Given the description of an element on the screen output the (x, y) to click on. 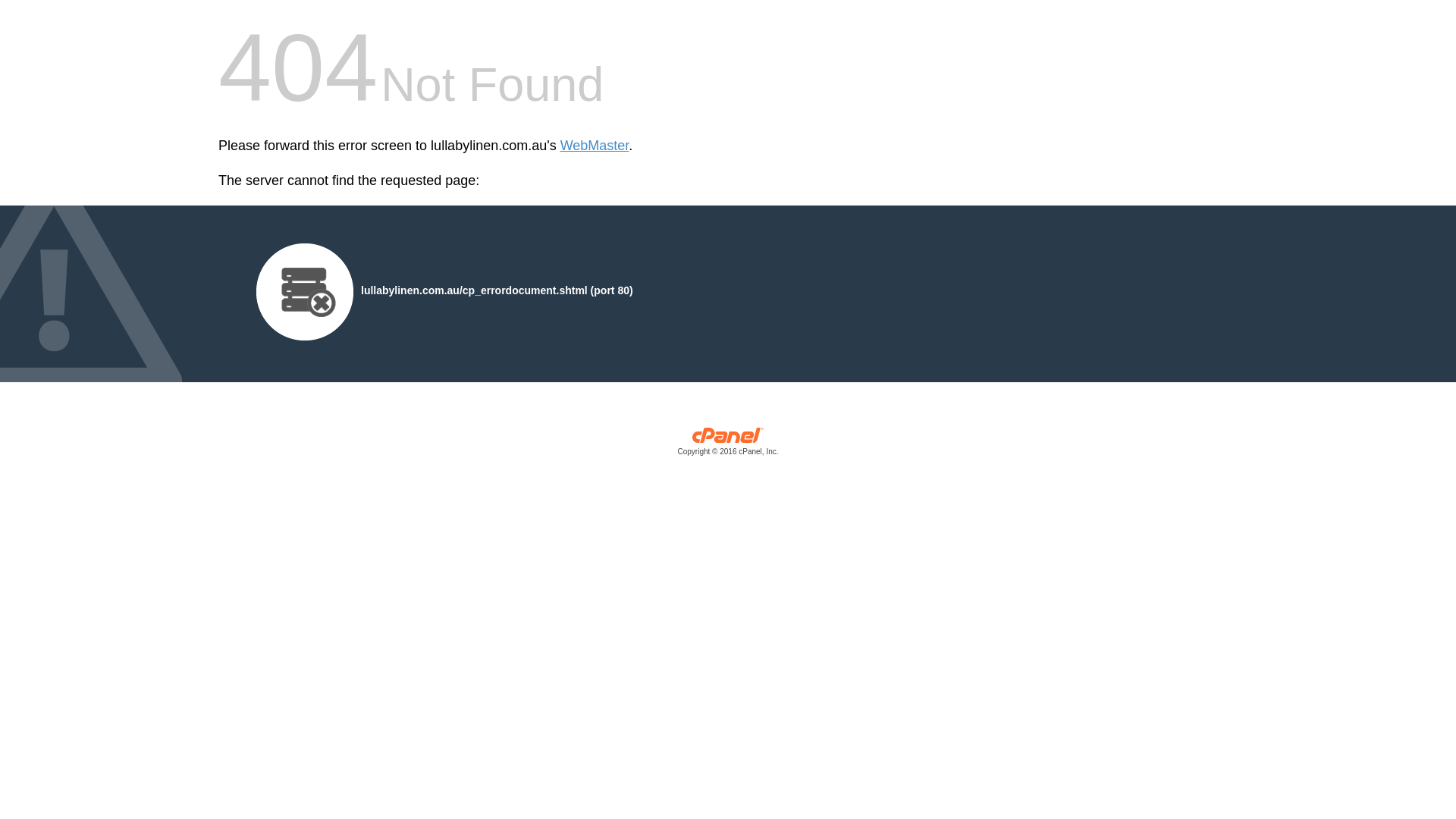
WebMaster Element type: text (594, 145)
